Given the description of an element on the screen output the (x, y) to click on. 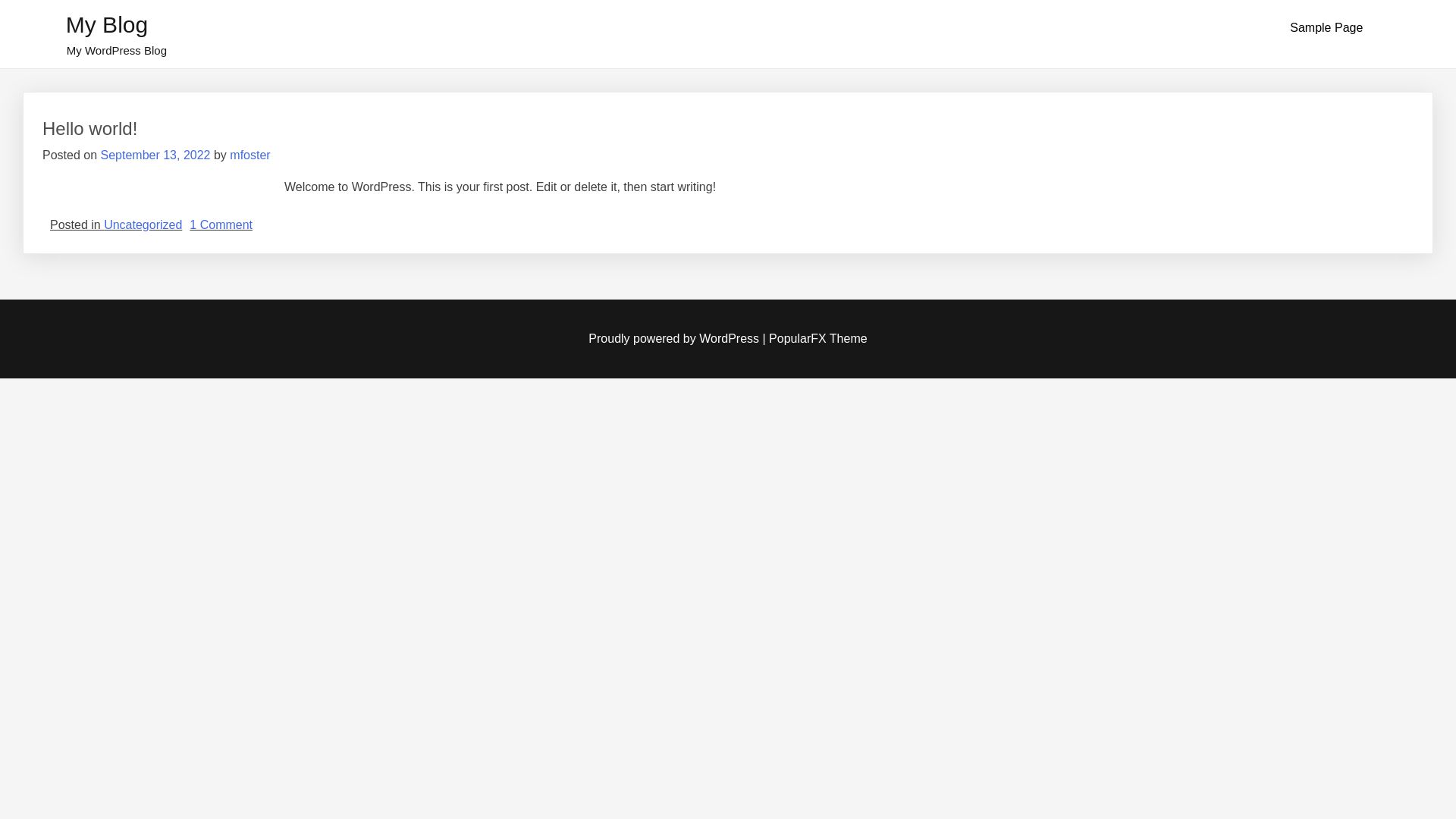
Proudly powered by WordPress Element type: text (675, 338)
mfoster Element type: text (249, 154)
September 13, 2022 Element type: text (155, 154)
Sample Page Element type: text (1326, 27)
PopularFX Theme Element type: text (817, 338)
Uncategorized Element type: text (142, 224)
Hello world! Element type: text (89, 128)
My Blog Element type: text (106, 24)
1 Comment
on Hello world! Element type: text (220, 224)
